Given the description of an element on the screen output the (x, y) to click on. 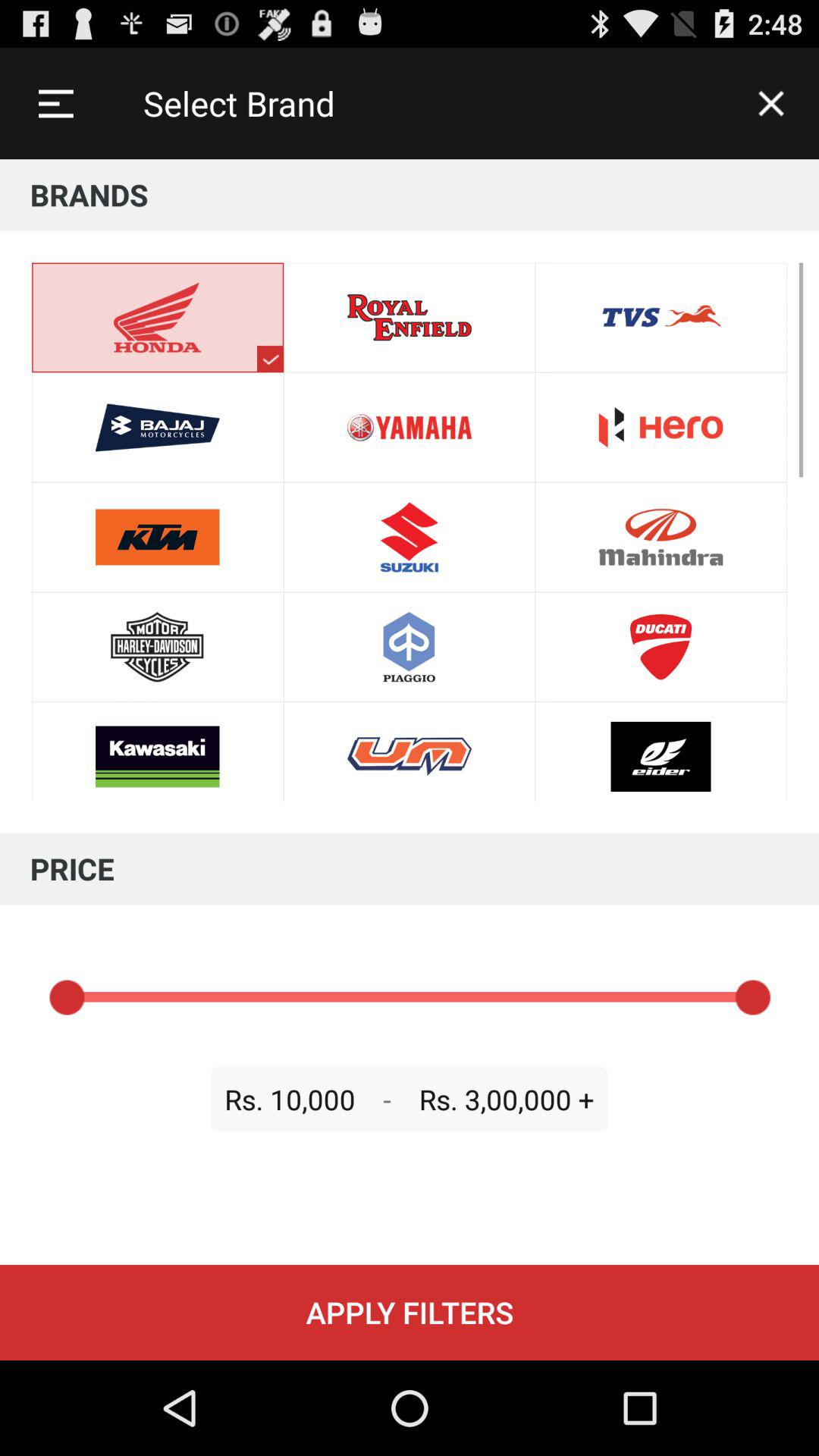
press icon above brands item (771, 103)
